Given the description of an element on the screen output the (x, y) to click on. 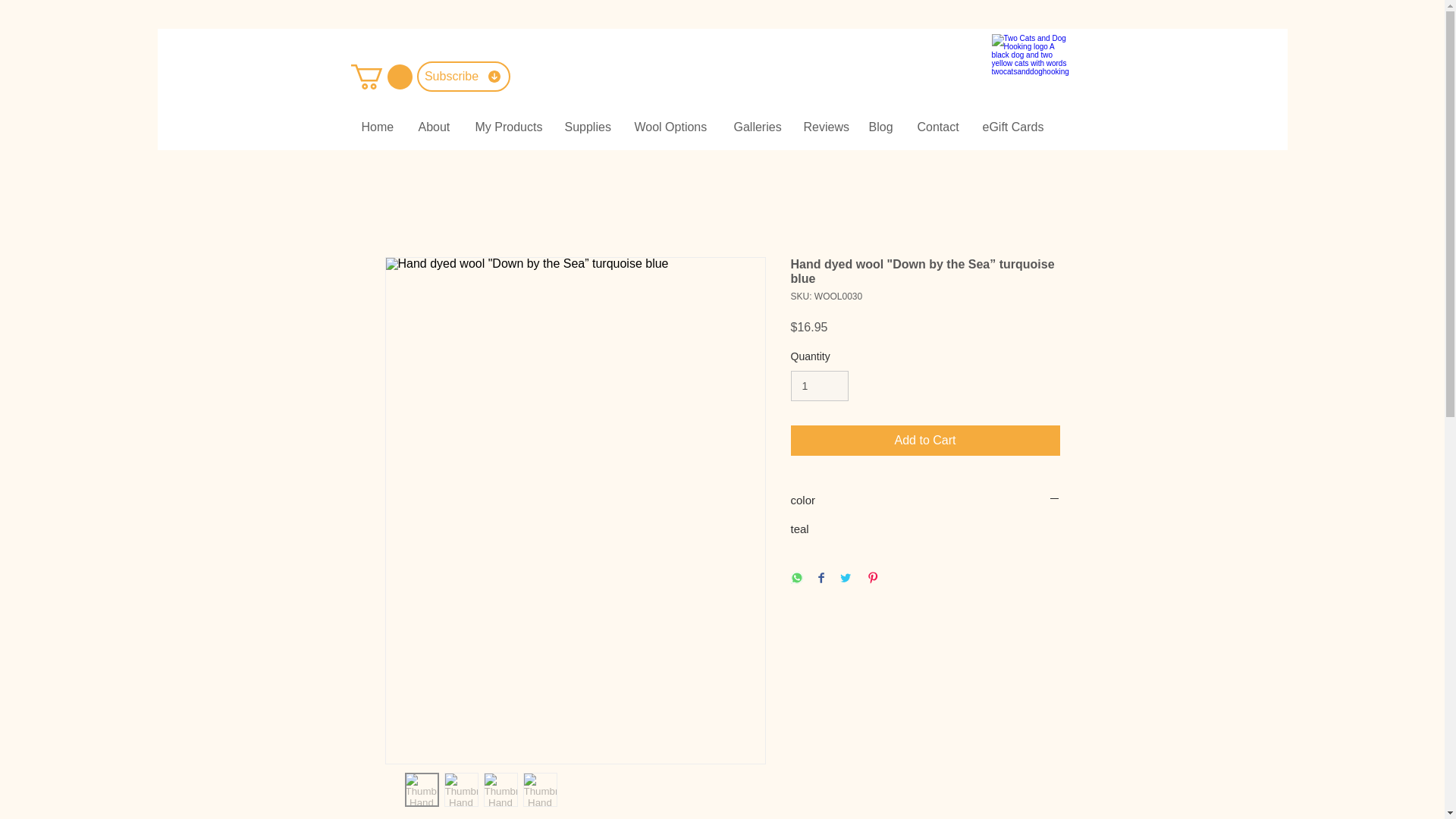
1 (818, 386)
Blog (881, 127)
Wool Options (672, 127)
Galleries (757, 127)
Subscribe (463, 76)
About (434, 127)
Supplies (588, 127)
Add to Cart (924, 440)
color (924, 499)
eGift Cards (1012, 127)
Home (378, 127)
Reviews (824, 127)
Contact (938, 127)
My Products (508, 127)
